Given the description of an element on the screen output the (x, y) to click on. 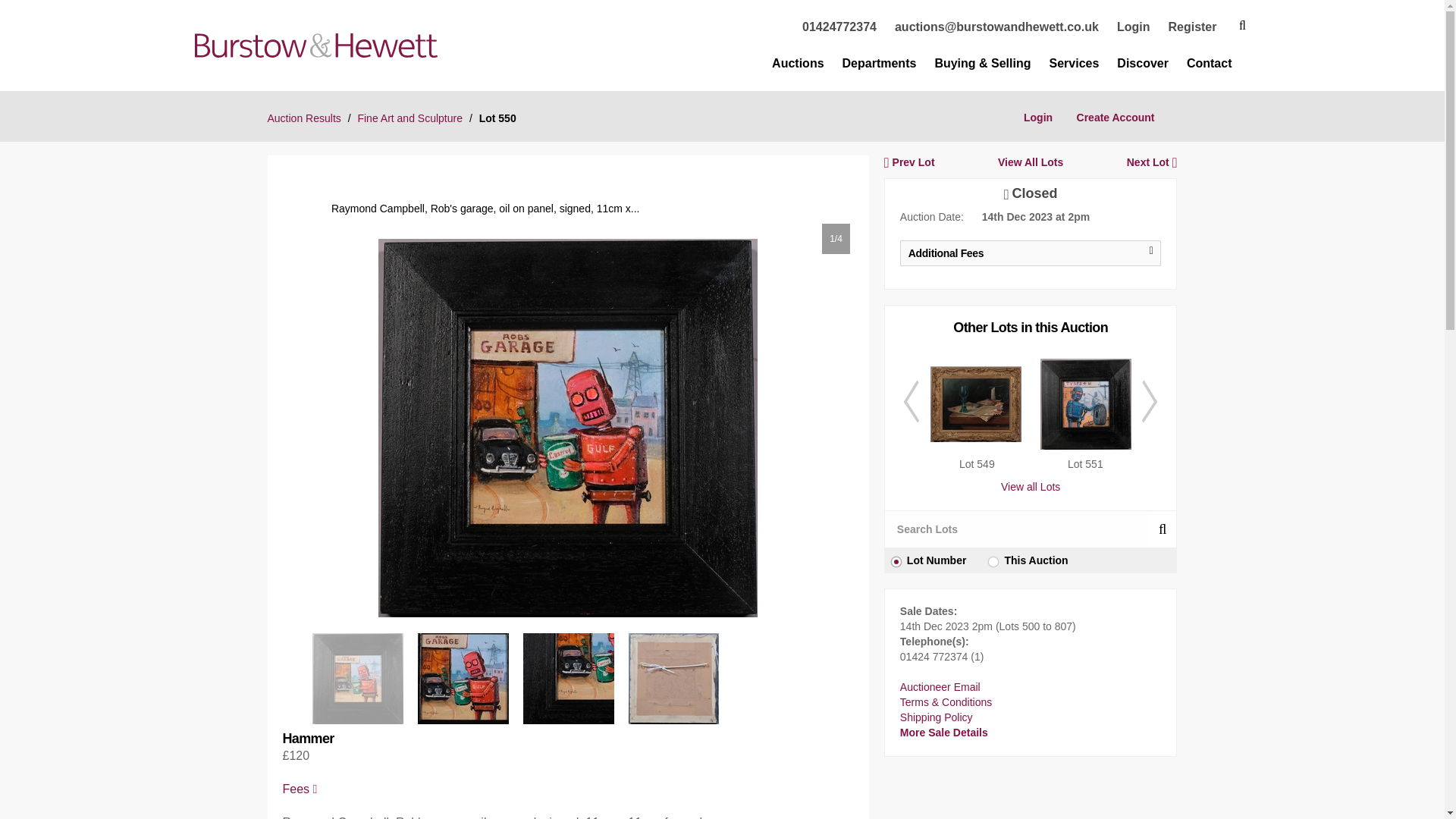
Auctions (797, 63)
Login (1133, 27)
Departments (880, 63)
Discover (1142, 63)
01424772374 (839, 27)
Register (1191, 27)
Contact (1208, 63)
Services (1074, 63)
